Given the description of an element on the screen output the (x, y) to click on. 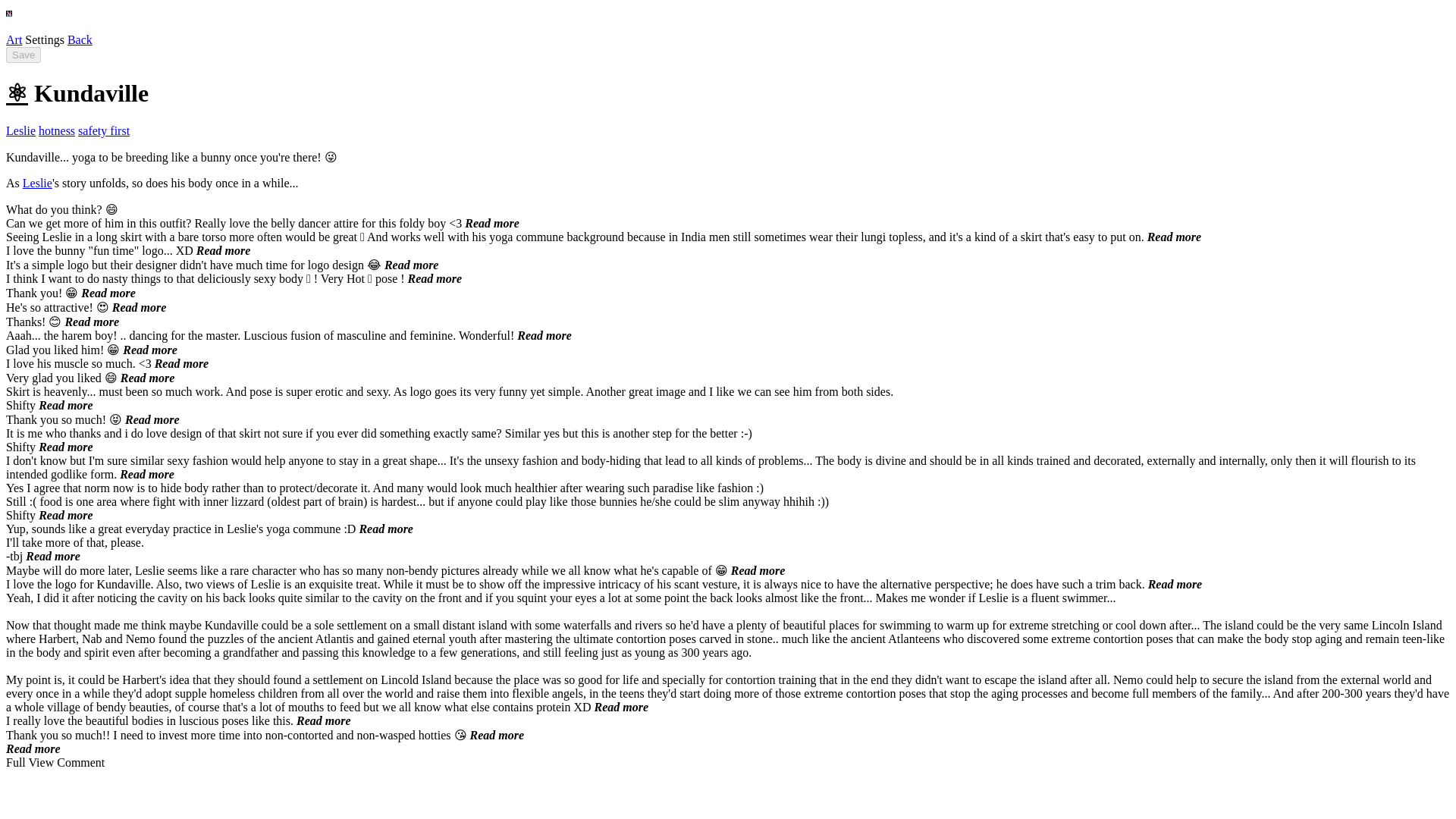
Save (22, 54)
hotness (57, 130)
safety first (103, 130)
Leslie (37, 182)
Art (13, 39)
Leslie (19, 130)
Settings (44, 39)
Back (79, 39)
